Given the description of an element on the screen output the (x, y) to click on. 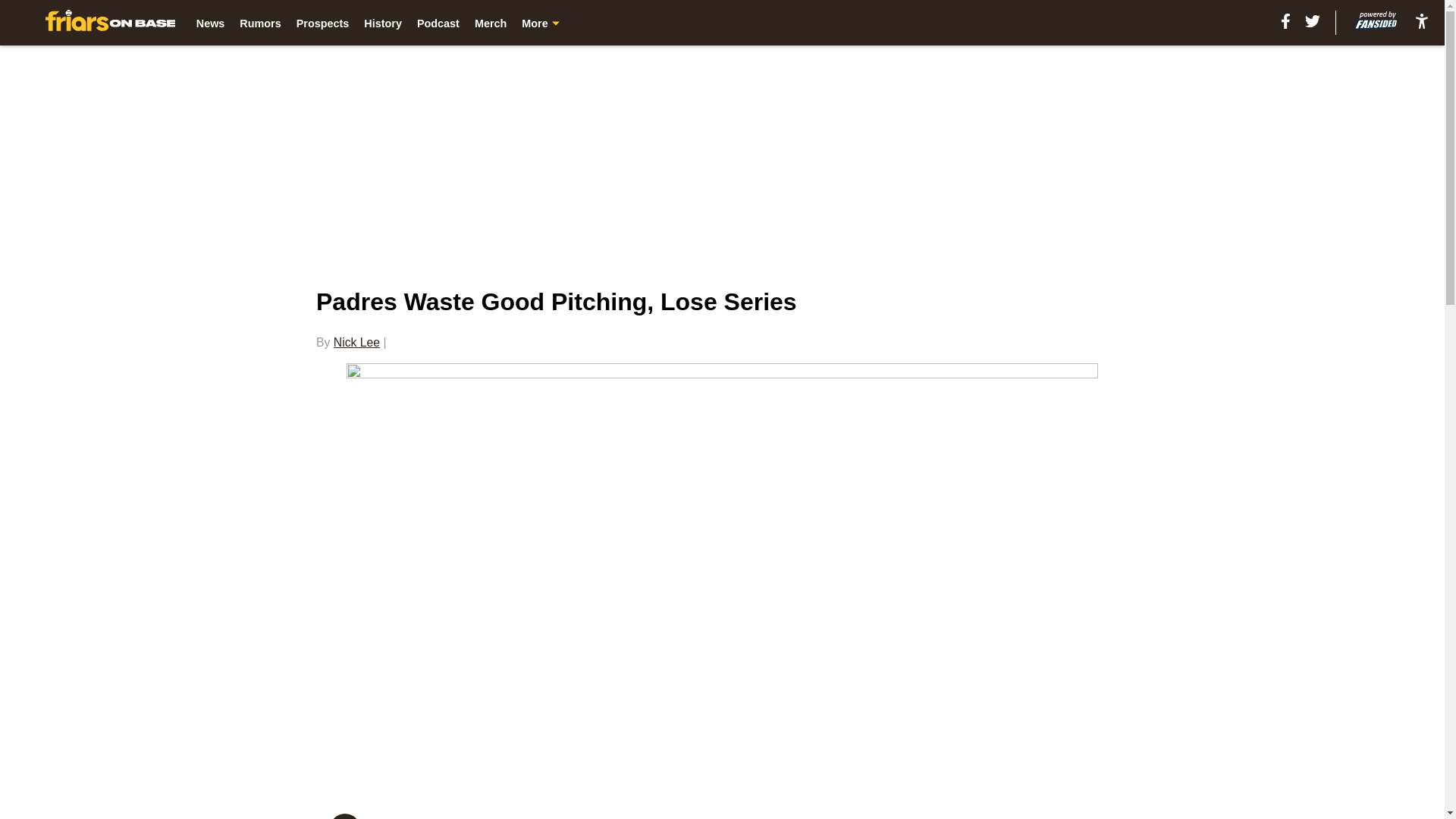
Prospects (323, 23)
Merch (490, 23)
Rumors (260, 23)
News (210, 23)
Nick Lee (356, 341)
History (382, 23)
Podcast (438, 23)
